Given the description of an element on the screen output the (x, y) to click on. 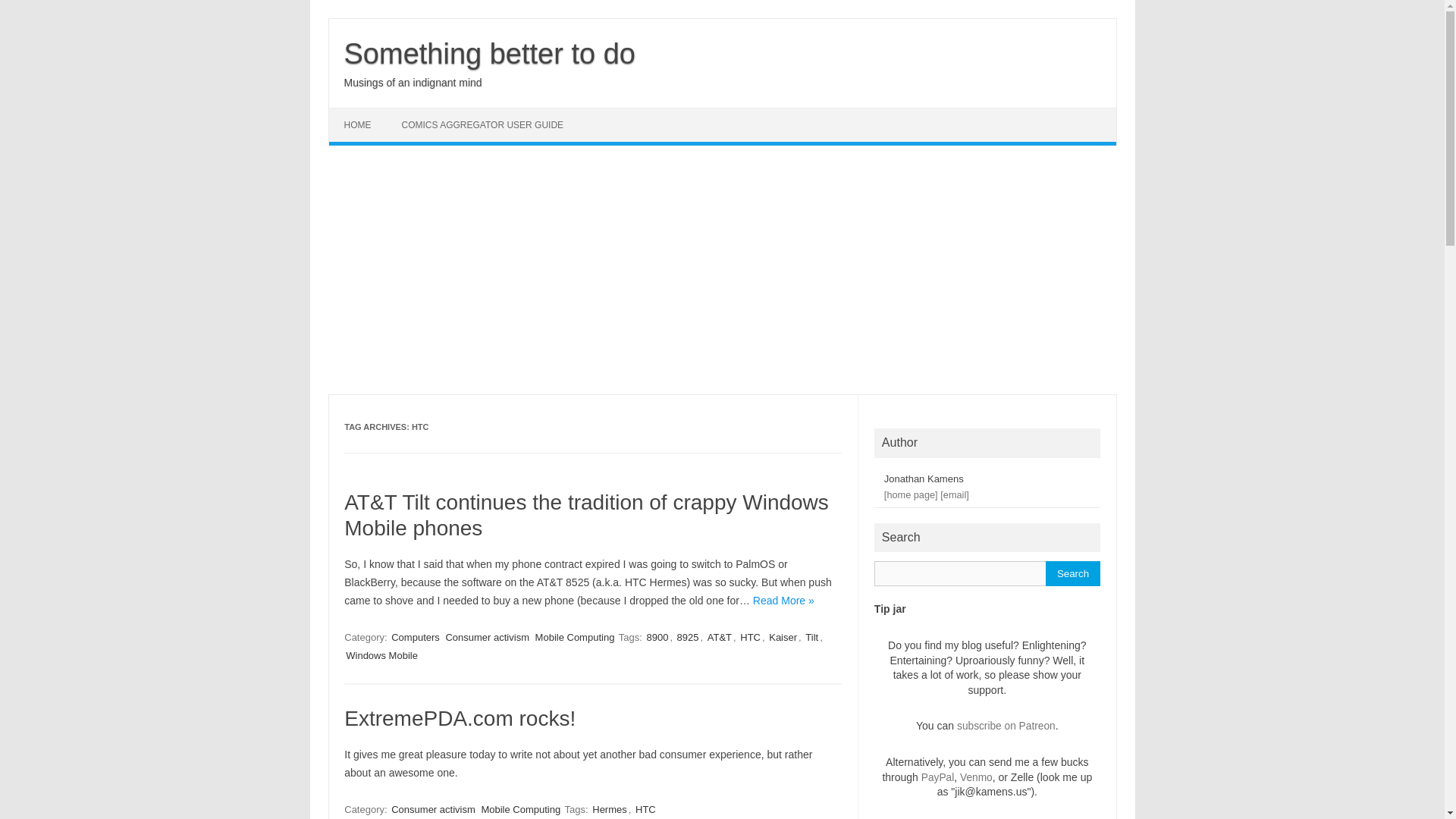
ExtremePDA.com rocks! (459, 718)
Computers (415, 636)
Something better to do (488, 53)
Something better to do (488, 53)
Mobile Computing (520, 809)
8900 (657, 636)
Consumer activism (487, 636)
Kaiser (782, 636)
Search (1072, 573)
Permalink to ExtremePDA.com rocks! (459, 718)
Windows Mobile (381, 655)
8925 (687, 636)
Hermes (609, 809)
HTC (645, 809)
Consumer activism (433, 809)
